Given the description of an element on the screen output the (x, y) to click on. 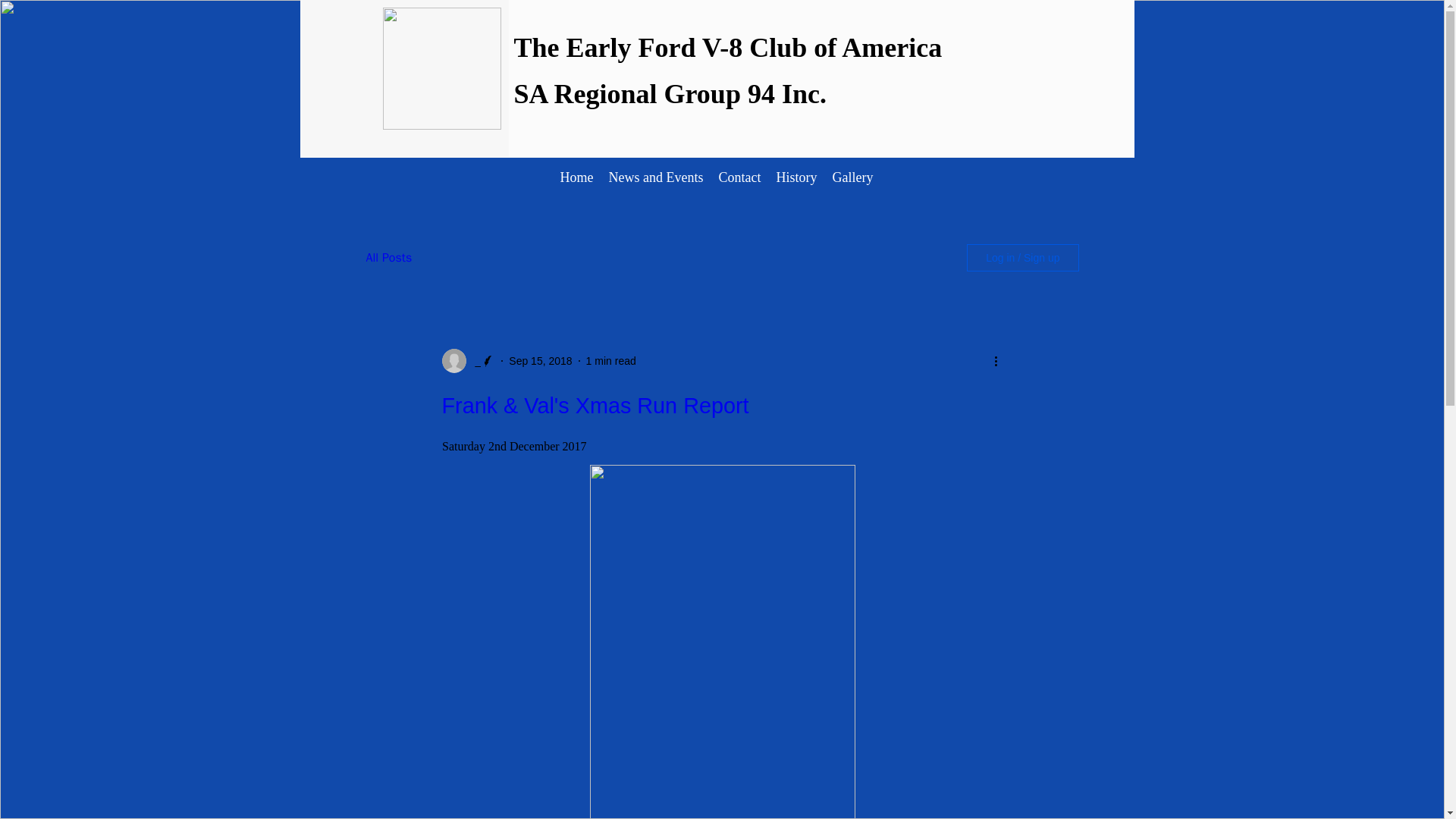
Sep 15, 2018 (540, 360)
Home (575, 176)
News and Events (654, 176)
1 min read (611, 360)
All Posts (388, 258)
Gallery (852, 176)
History (796, 176)
Contact (739, 176)
